Given the description of an element on the screen output the (x, y) to click on. 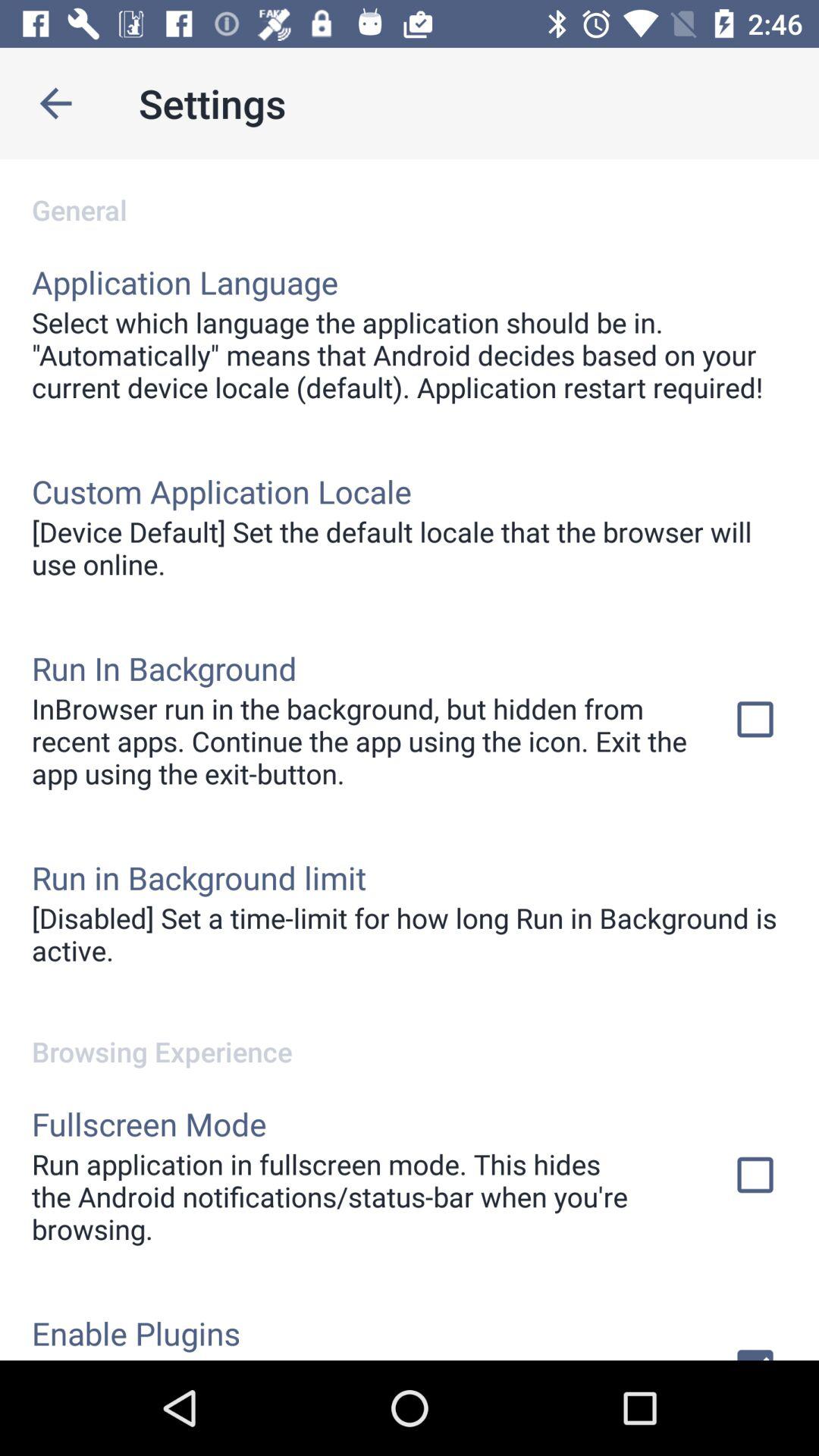
go back (55, 103)
